Given the description of an element on the screen output the (x, y) to click on. 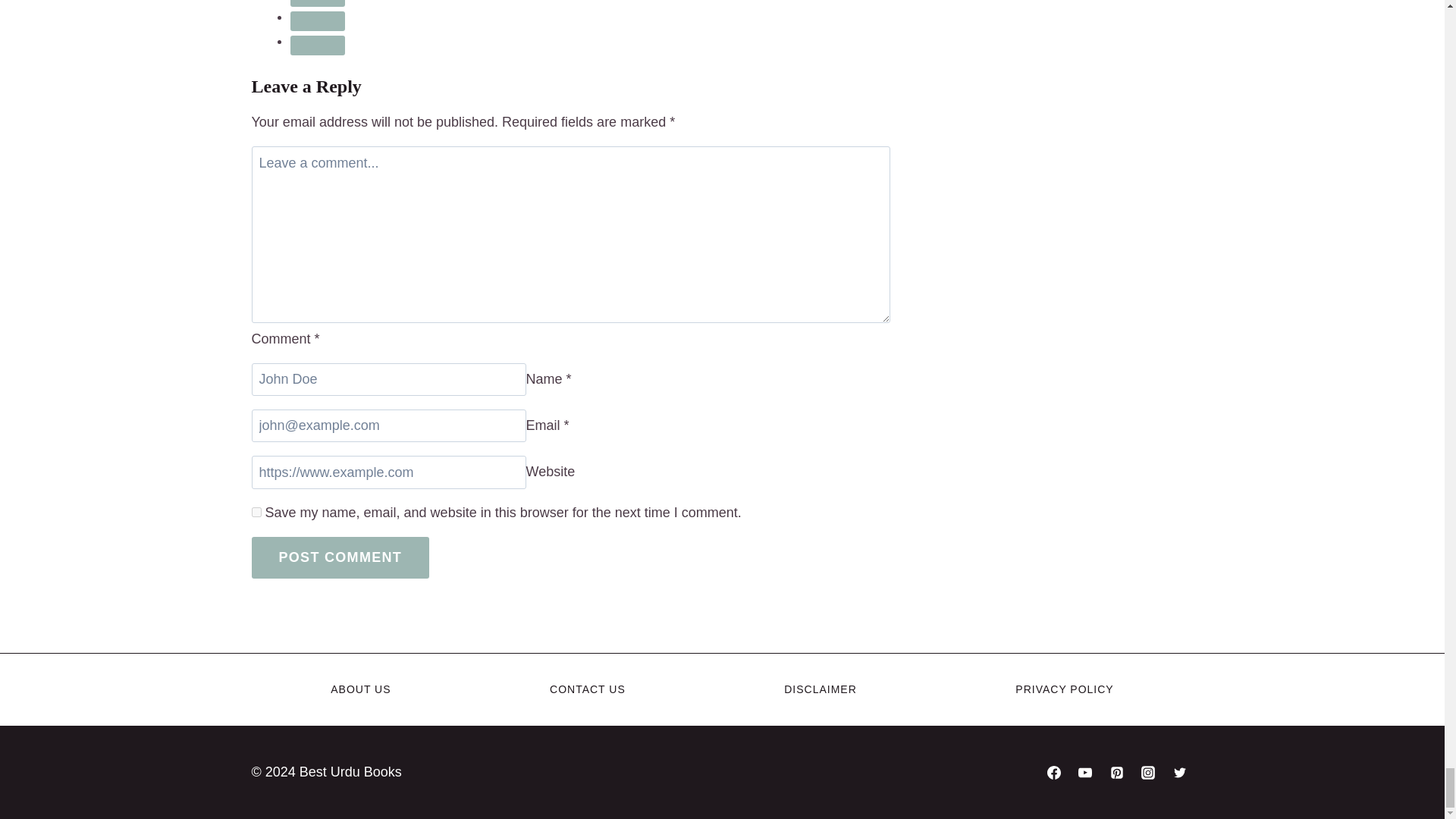
yes (256, 511)
Post Comment (340, 557)
